Given the description of an element on the screen output the (x, y) to click on. 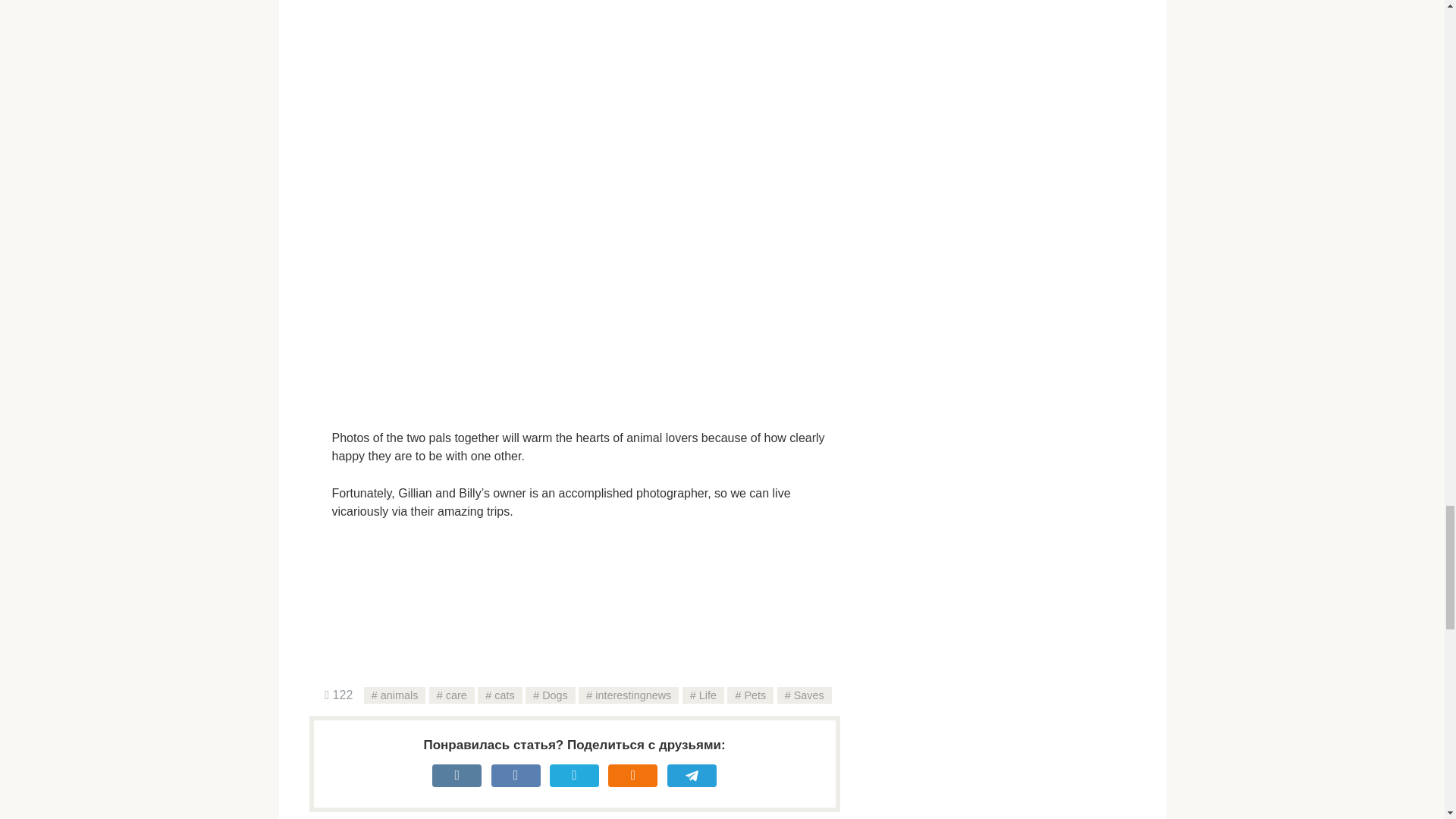
interestingnews (628, 695)
Pets (749, 695)
care (451, 695)
Life (702, 695)
animals (395, 695)
Saves (804, 695)
Dogs (550, 695)
cats (499, 695)
